Given the description of an element on the screen output the (x, y) to click on. 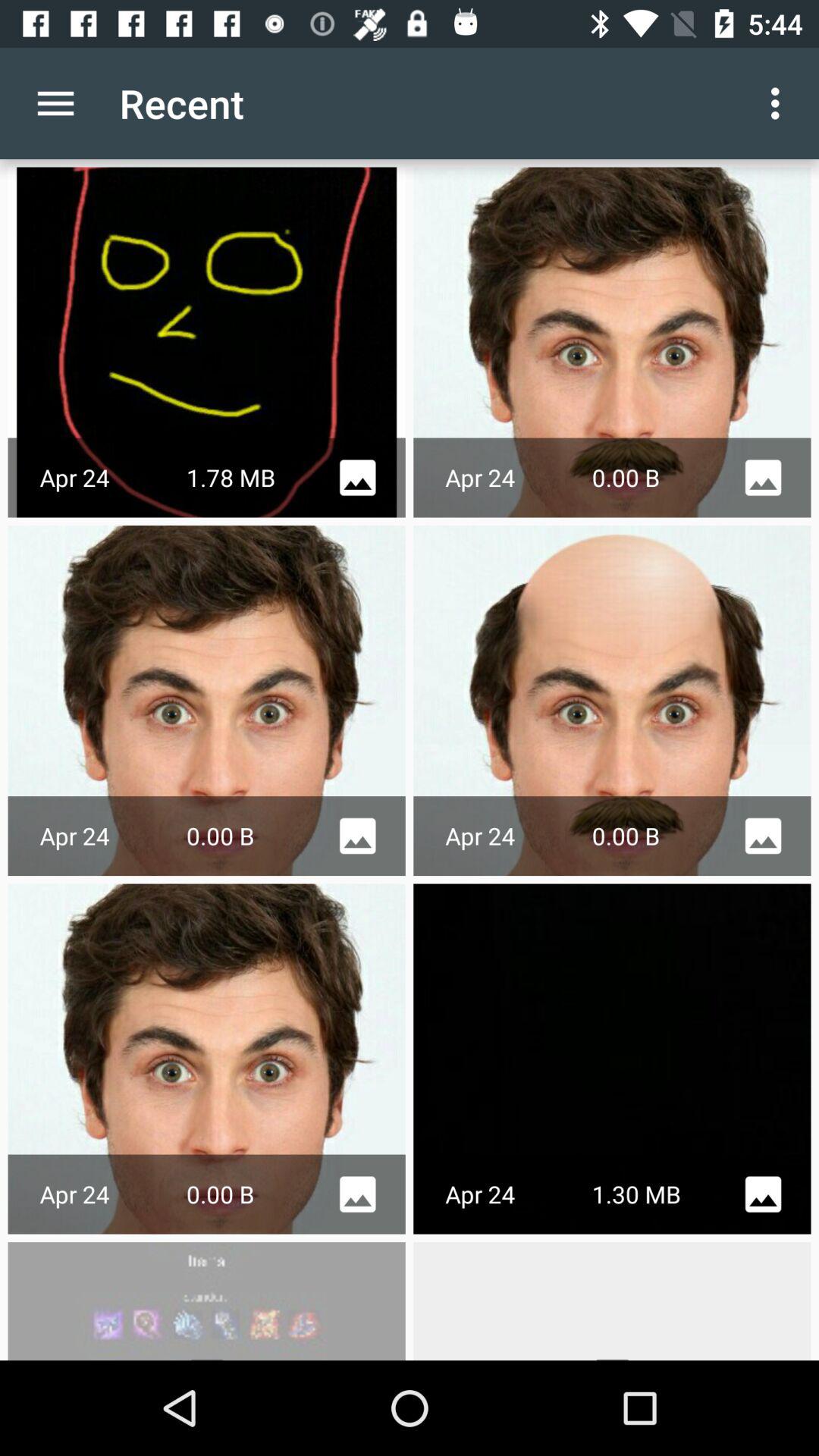
press the app to the right of recent item (779, 103)
